Given the description of an element on the screen output the (x, y) to click on. 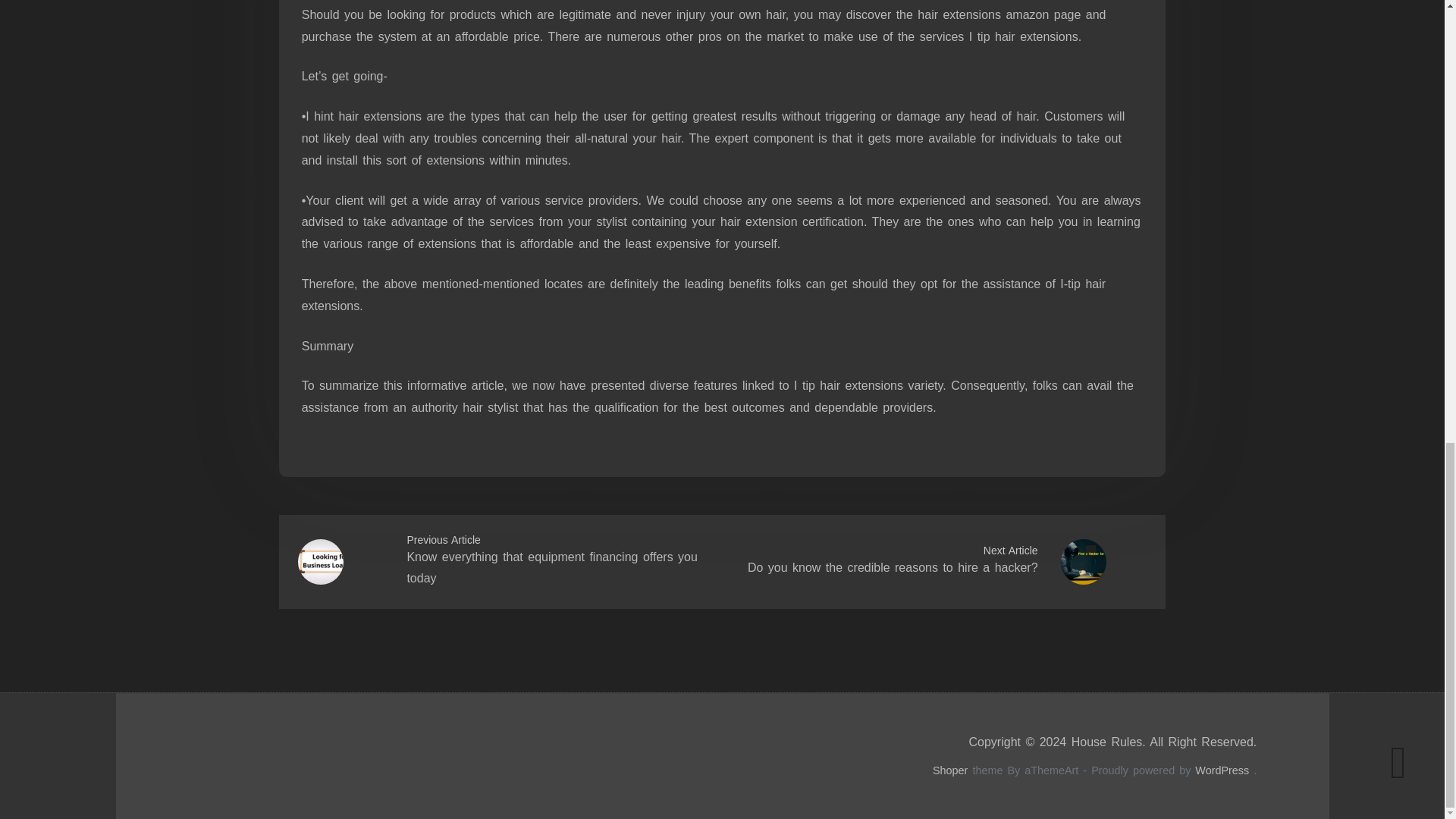
Do you know the credible reasons to hire a hacker? (893, 567)
WordPress (1222, 770)
Shoper (950, 770)
Know everything that equipment financing offers you today (551, 567)
